Given the description of an element on the screen output the (x, y) to click on. 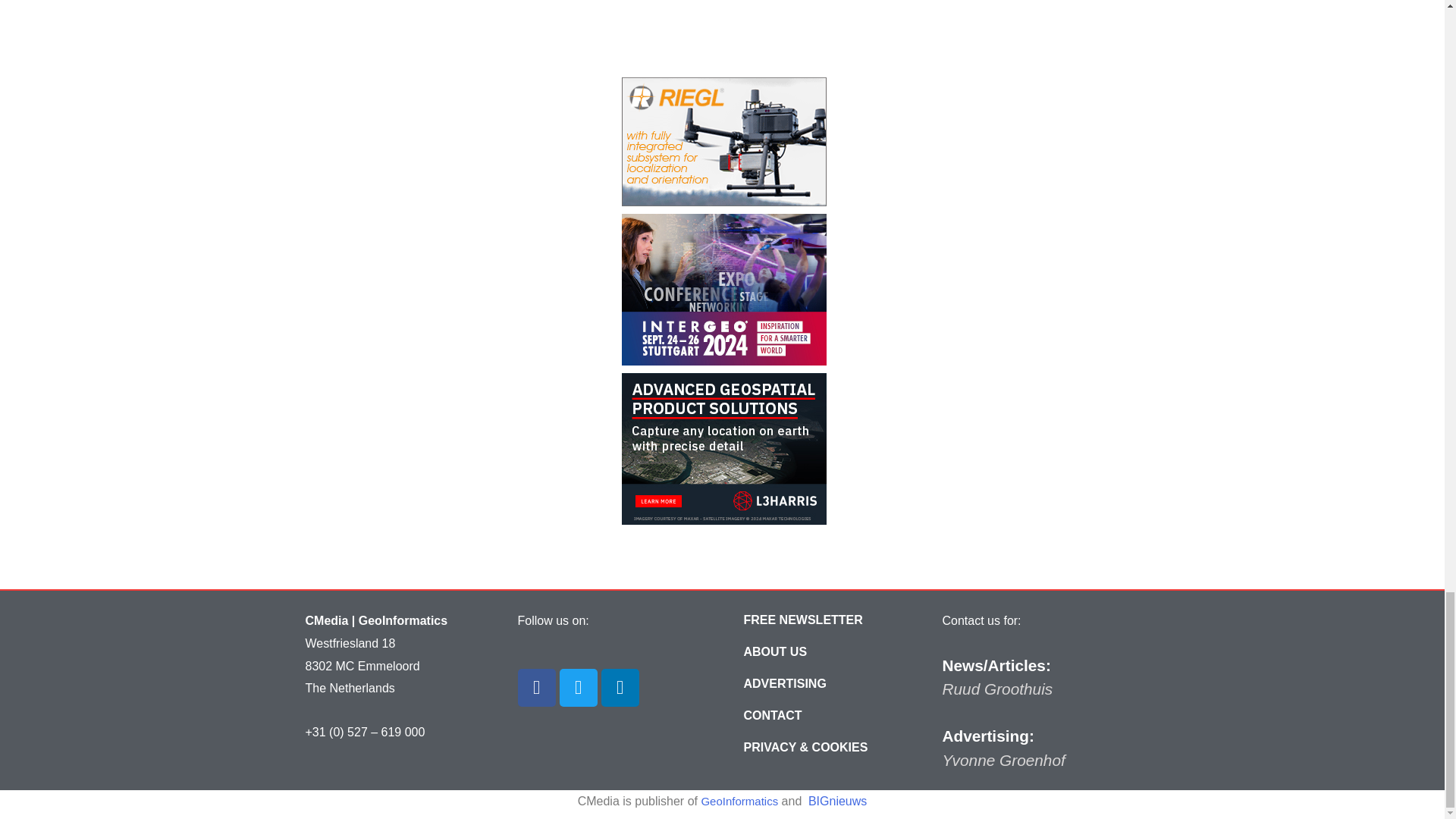
About GeoInformatics (774, 652)
Contact (772, 716)
Advertising? (784, 684)
FREE NEWSLETTER (802, 620)
FREE eNewsletter (802, 620)
